Given the description of an element on the screen output the (x, y) to click on. 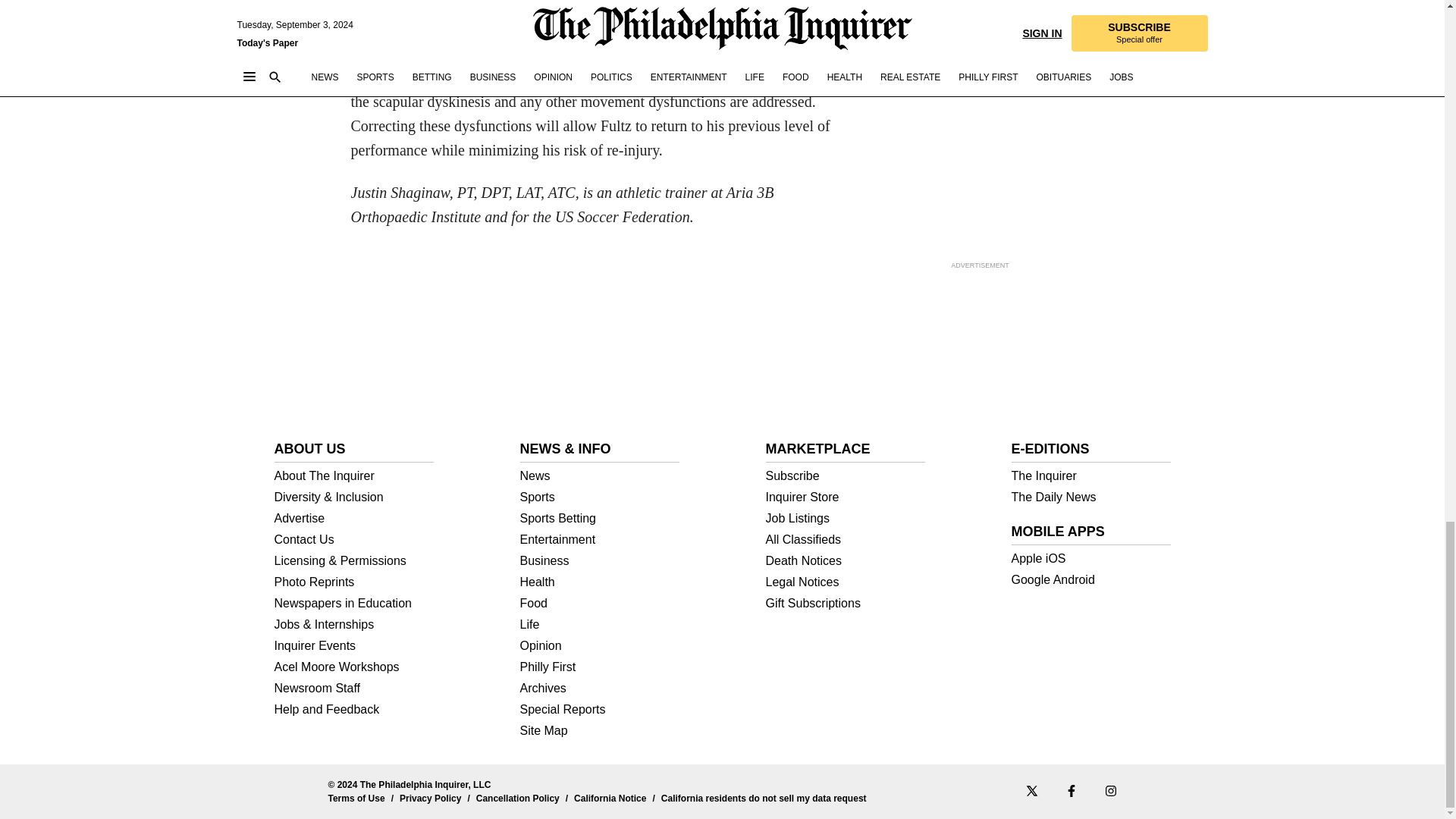
Instagram (1109, 790)
X (1030, 790)
Facebook (1070, 790)
About The Inquirer (354, 476)
